Given the description of an element on the screen output the (x, y) to click on. 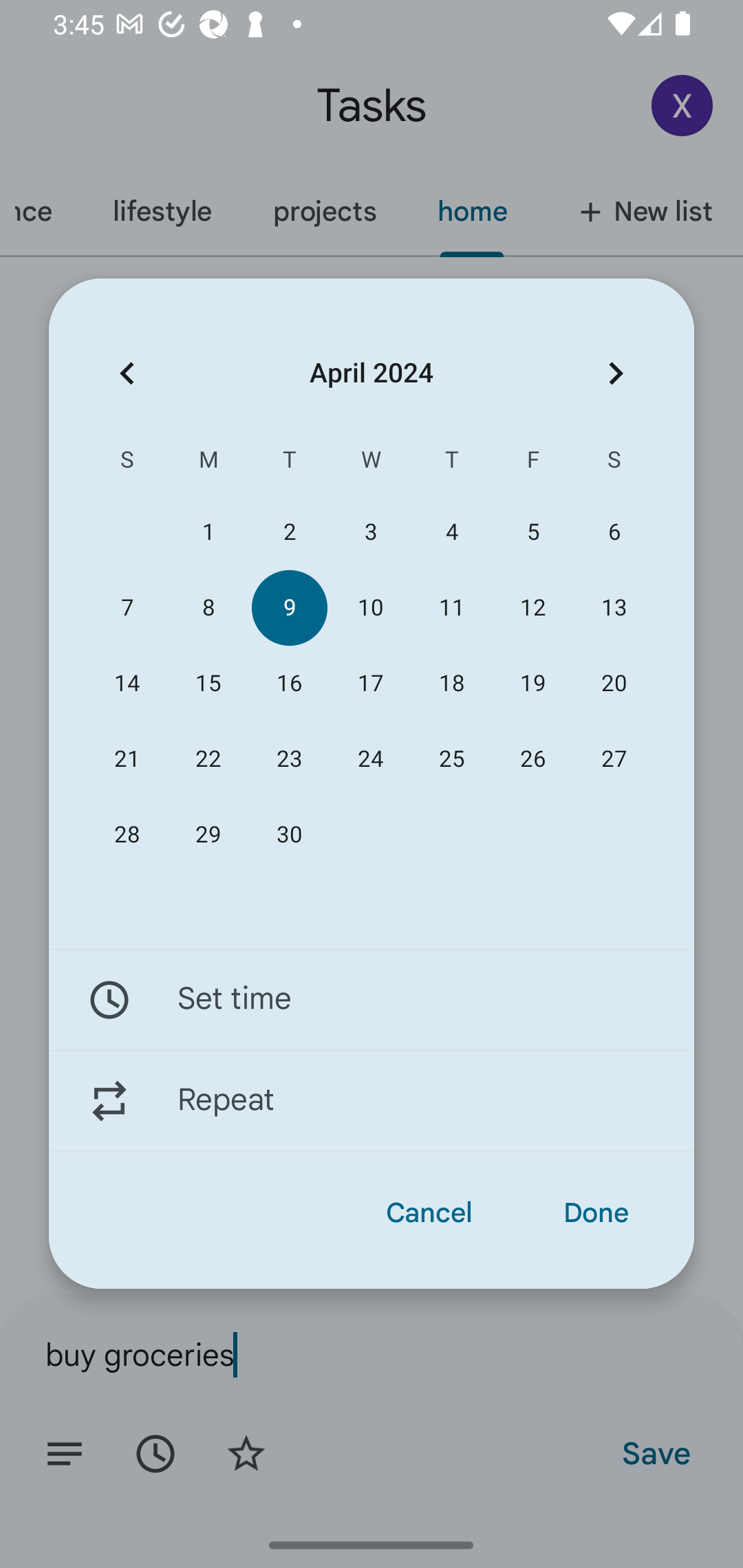
Previous month (126, 372)
Next month (615, 372)
1 01 April 2024 (207, 531)
2 02 April 2024 (288, 531)
3 03 April 2024 (370, 531)
4 04 April 2024 (451, 531)
5 05 April 2024 (532, 531)
6 06 April 2024 (613, 531)
7 07 April 2024 (126, 608)
8 08 April 2024 (207, 608)
9 09 April 2024 (288, 608)
10 10 April 2024 (370, 608)
11 11 April 2024 (451, 608)
12 12 April 2024 (532, 608)
13 13 April 2024 (613, 608)
14 14 April 2024 (126, 683)
15 15 April 2024 (207, 683)
16 16 April 2024 (288, 683)
17 17 April 2024 (370, 683)
18 18 April 2024 (451, 683)
19 19 April 2024 (532, 683)
20 20 April 2024 (613, 683)
21 21 April 2024 (126, 758)
22 22 April 2024 (207, 758)
23 23 April 2024 (288, 758)
24 24 April 2024 (370, 758)
25 25 April 2024 (451, 758)
26 26 April 2024 (532, 758)
27 27 April 2024 (613, 758)
28 28 April 2024 (126, 834)
29 29 April 2024 (207, 834)
30 30 April 2024 (288, 834)
Set time (371, 999)
Repeat (371, 1101)
Cancel (429, 1213)
Done (595, 1213)
